Given the description of an element on the screen output the (x, y) to click on. 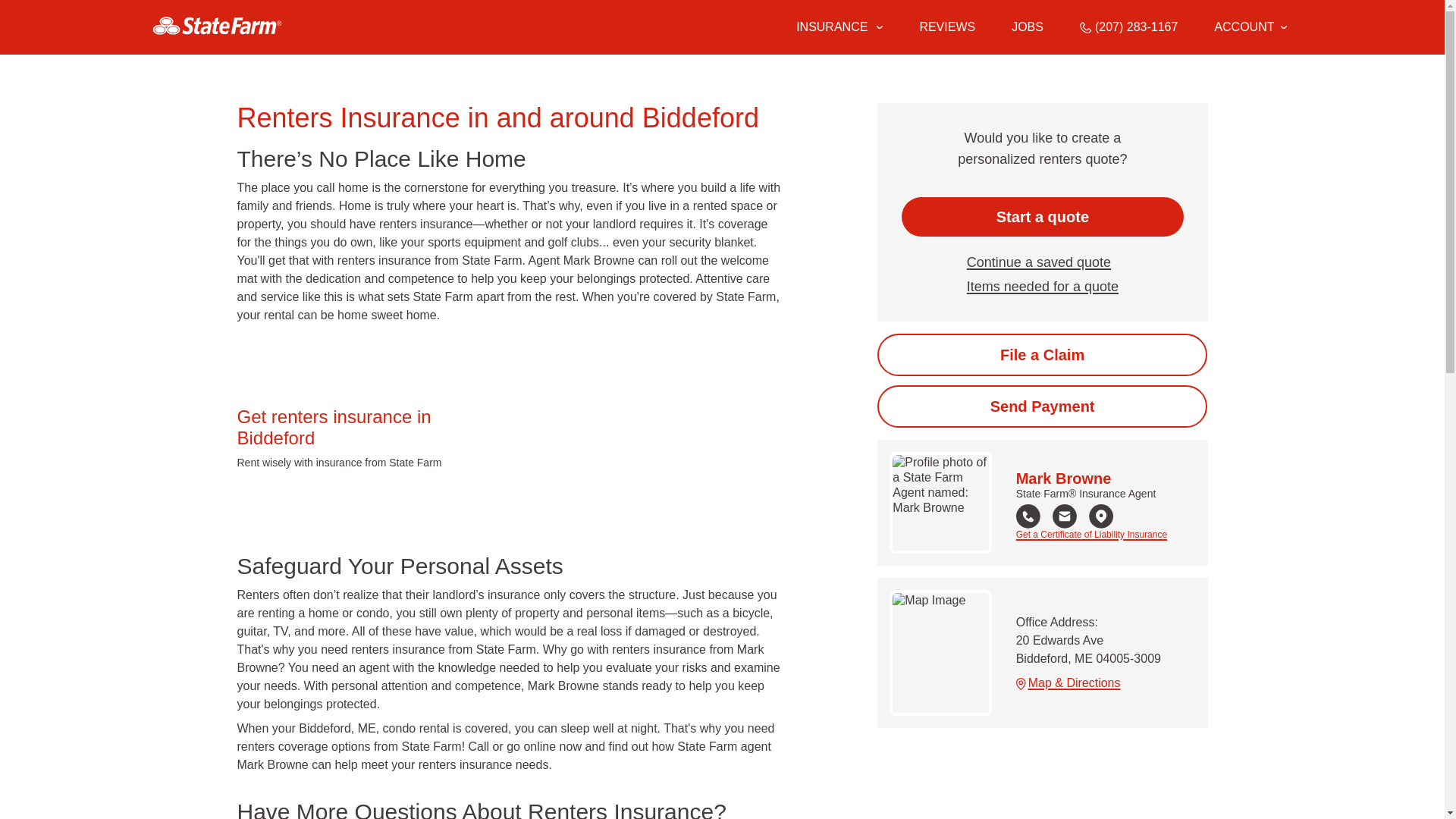
INSURANCE (830, 27)
Account Options (1250, 27)
Insurance (839, 27)
ACCOUNT (1250, 27)
Start the claim process online (1042, 354)
REVIEWS (946, 27)
JOBS (1027, 27)
